Given the description of an element on the screen output the (x, y) to click on. 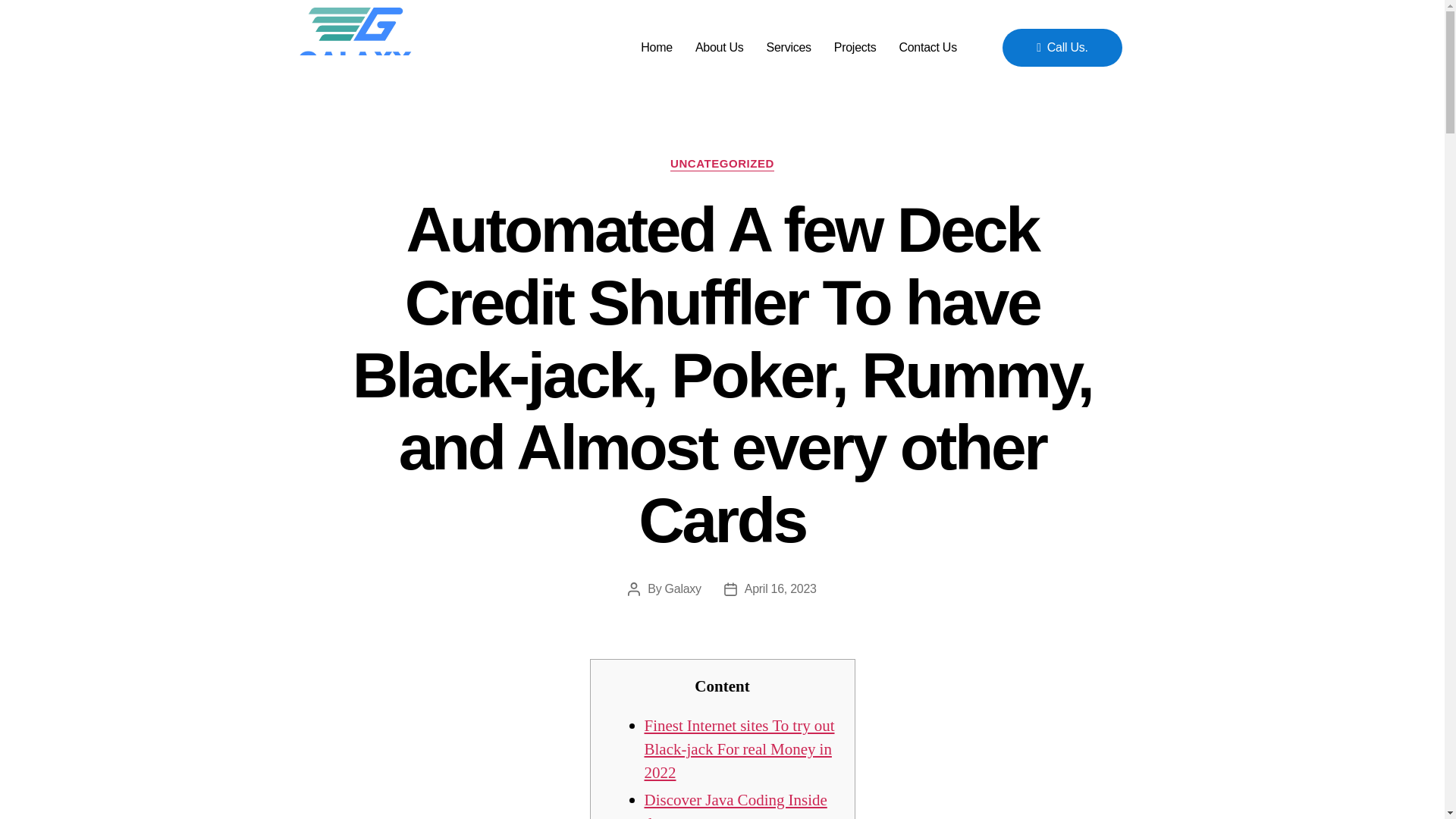
Home (656, 47)
Call Us. (1062, 47)
April 16, 2023 (780, 588)
About Us (719, 47)
Services (788, 47)
Galaxy (683, 588)
Discover Java Coding Inside day (736, 804)
UNCATEGORIZED (721, 164)
Projects (855, 47)
